Given the description of an element on the screen output the (x, y) to click on. 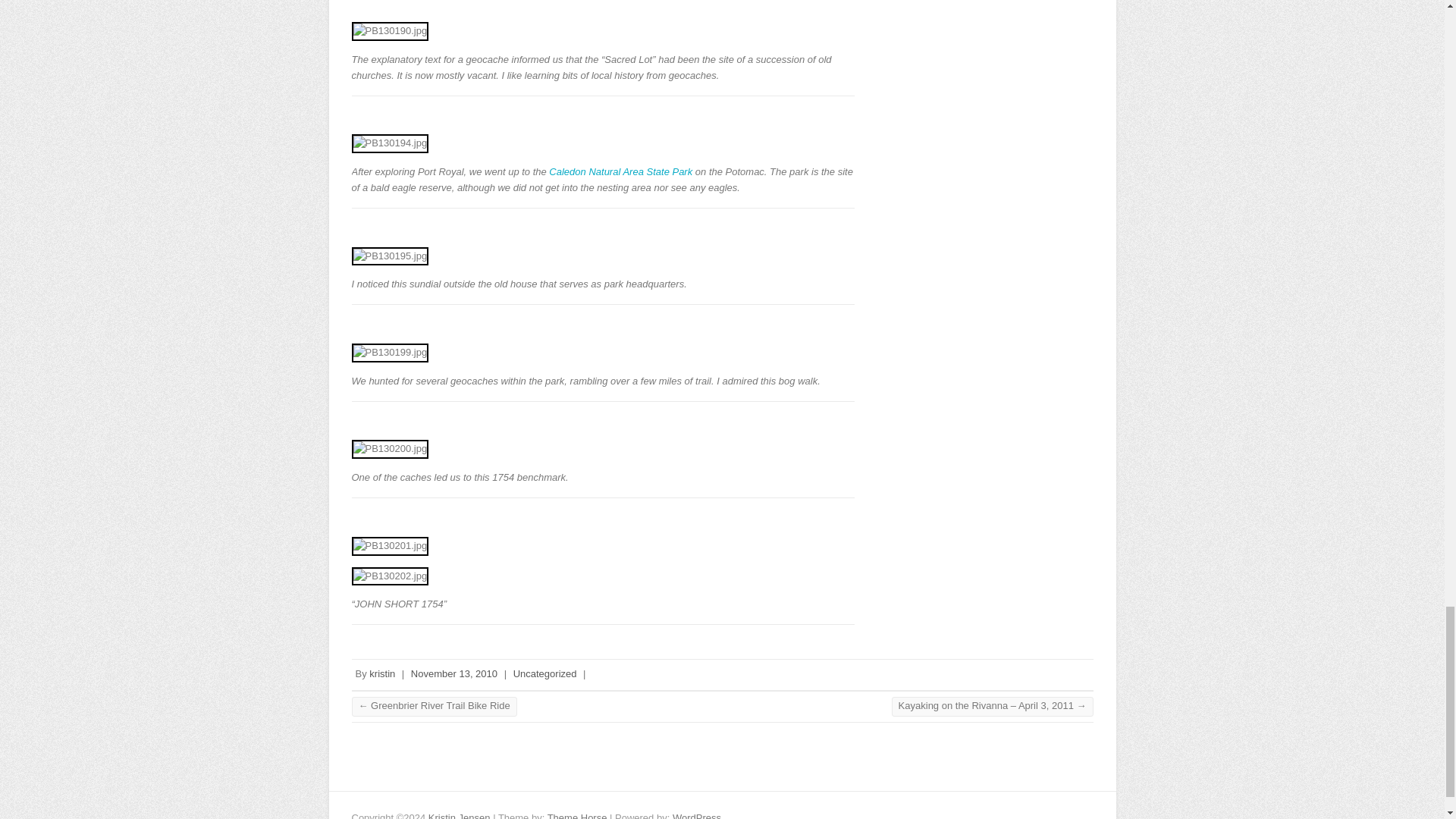
kristin (381, 673)
Caledon Natural Area State Park (620, 171)
November 13, 2010 (453, 673)
Uncategorized (544, 673)
